Given the description of an element on the screen output the (x, y) to click on. 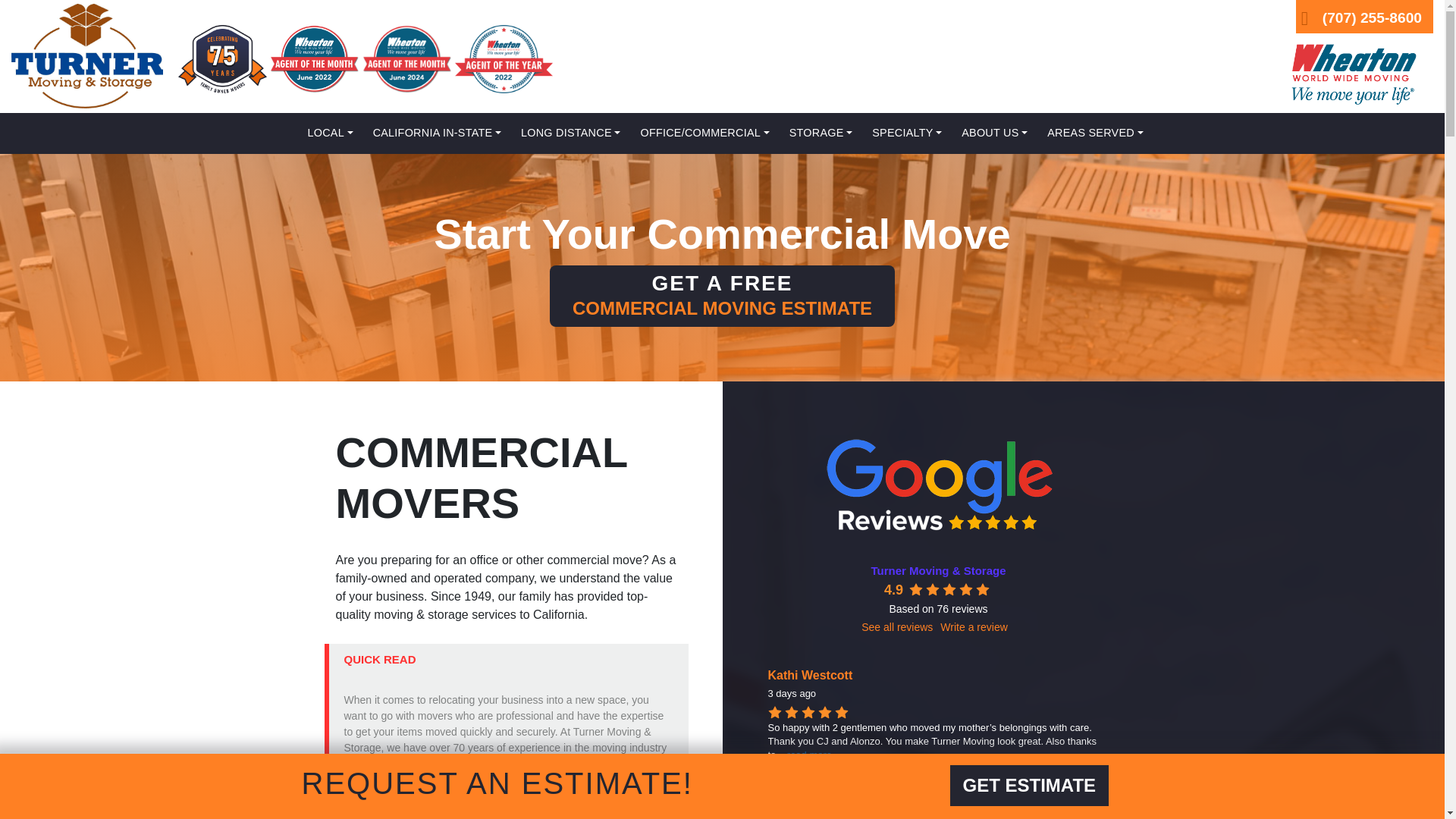
LONG DISTANCE (570, 133)
CALIFORNIA IN-STATE (436, 133)
LOCAL (330, 133)
Local (330, 133)
California In-State (436, 133)
